Given the description of an element on the screen output the (x, y) to click on. 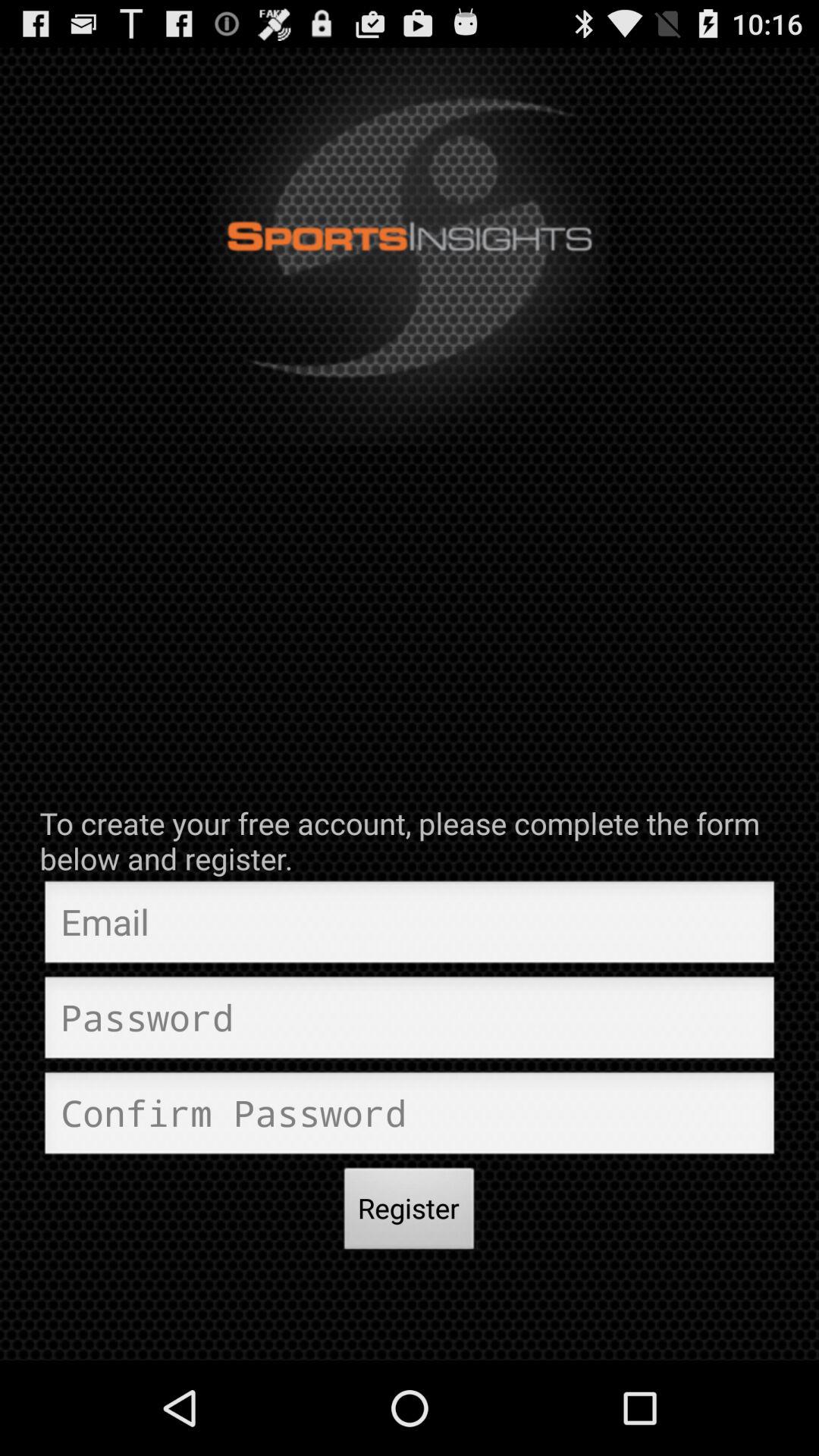
go to password (409, 1021)
